Given the description of an element on the screen output the (x, y) to click on. 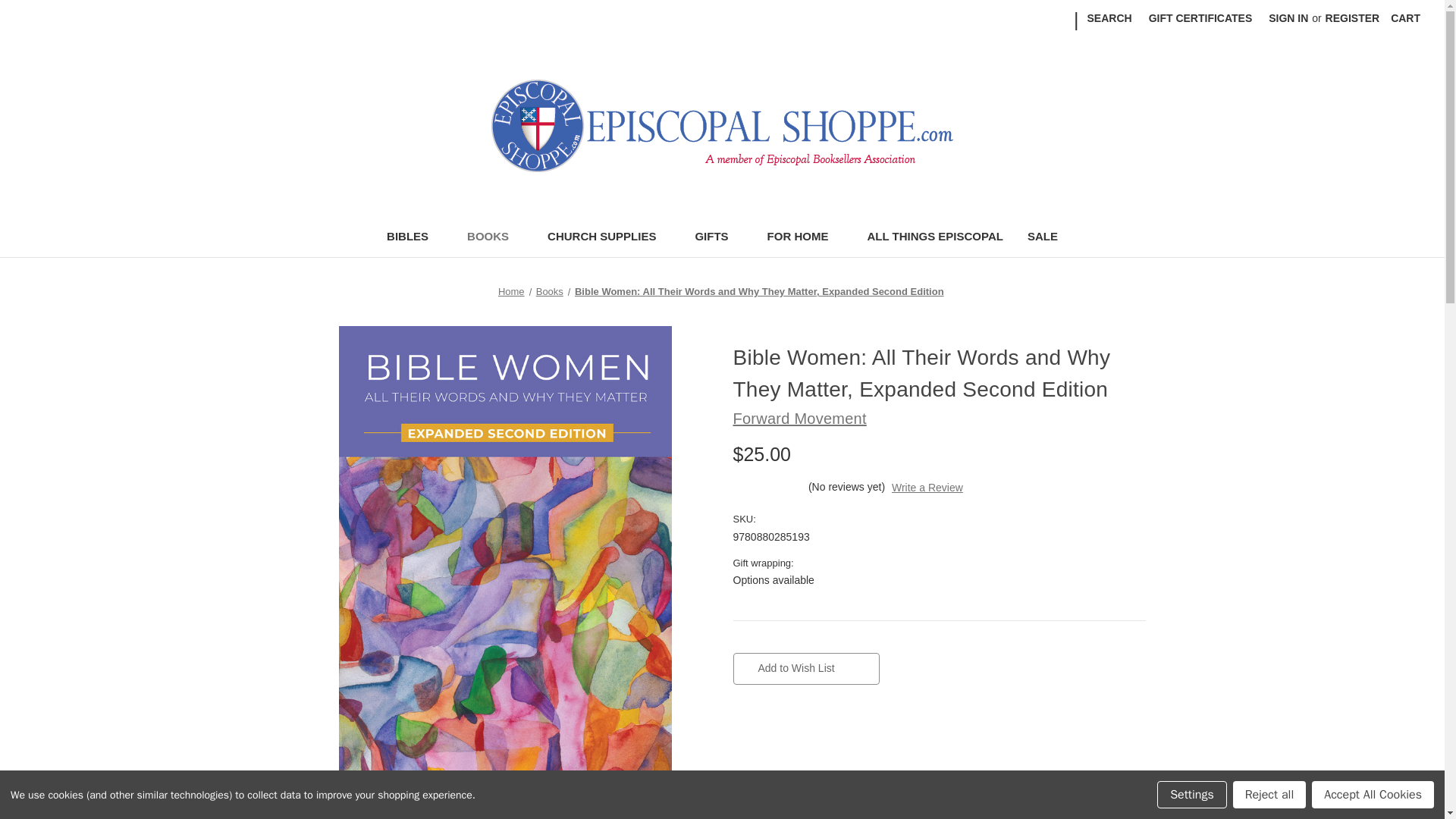
SIGN IN (1288, 18)
GIFT CERTIFICATES (1200, 18)
SEARCH (1109, 18)
CART (1404, 18)
REGISTER (1353, 18)
Episcopal Shoppe (722, 125)
BOOKS (494, 238)
BIBLES (414, 238)
